Given the description of an element on the screen output the (x, y) to click on. 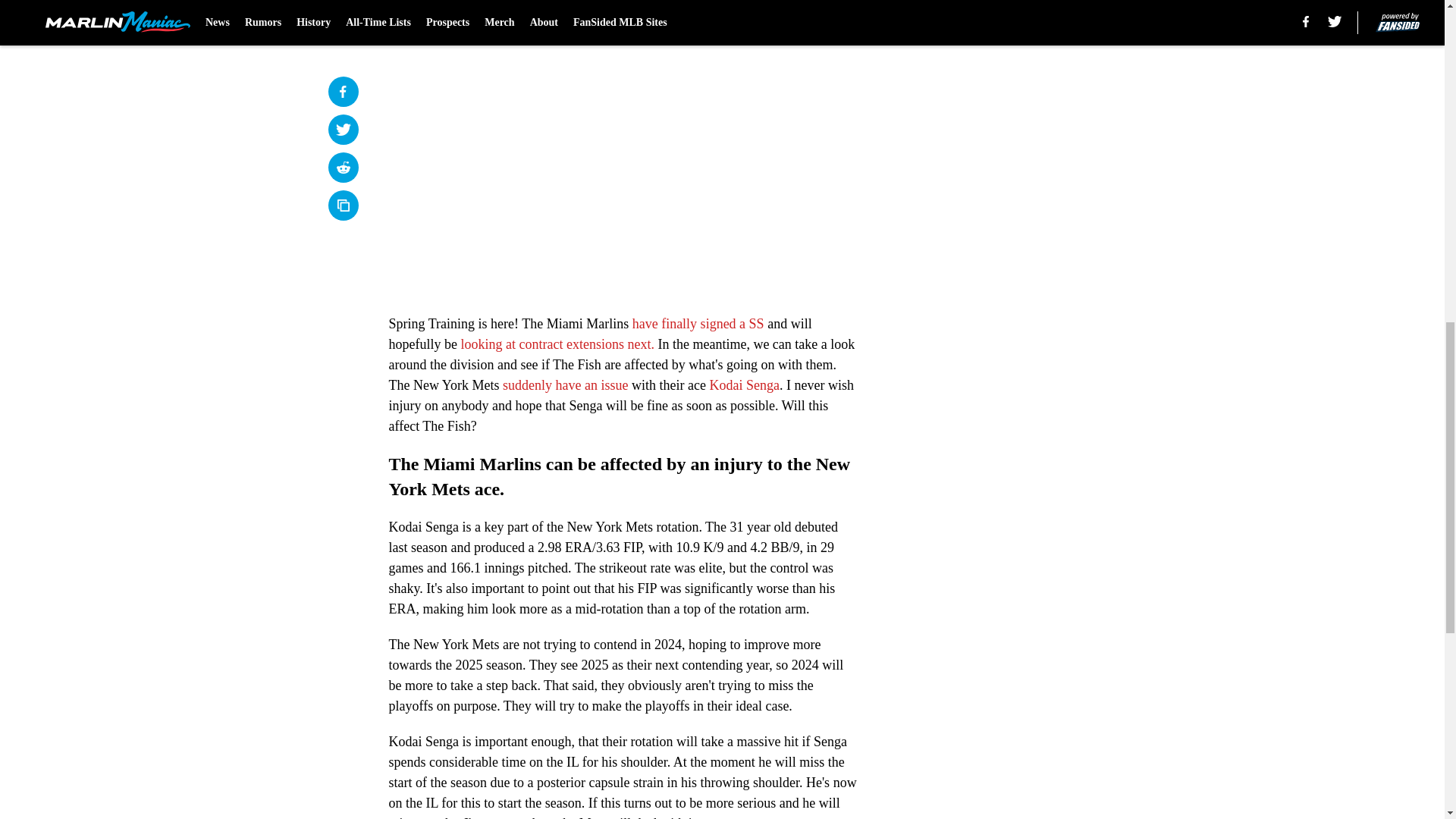
looking at contract extensions next. (556, 344)
suddenly have an issue (564, 385)
Kodai Senga (743, 385)
have finally signed a SS (697, 323)
